Given the description of an element on the screen output the (x, y) to click on. 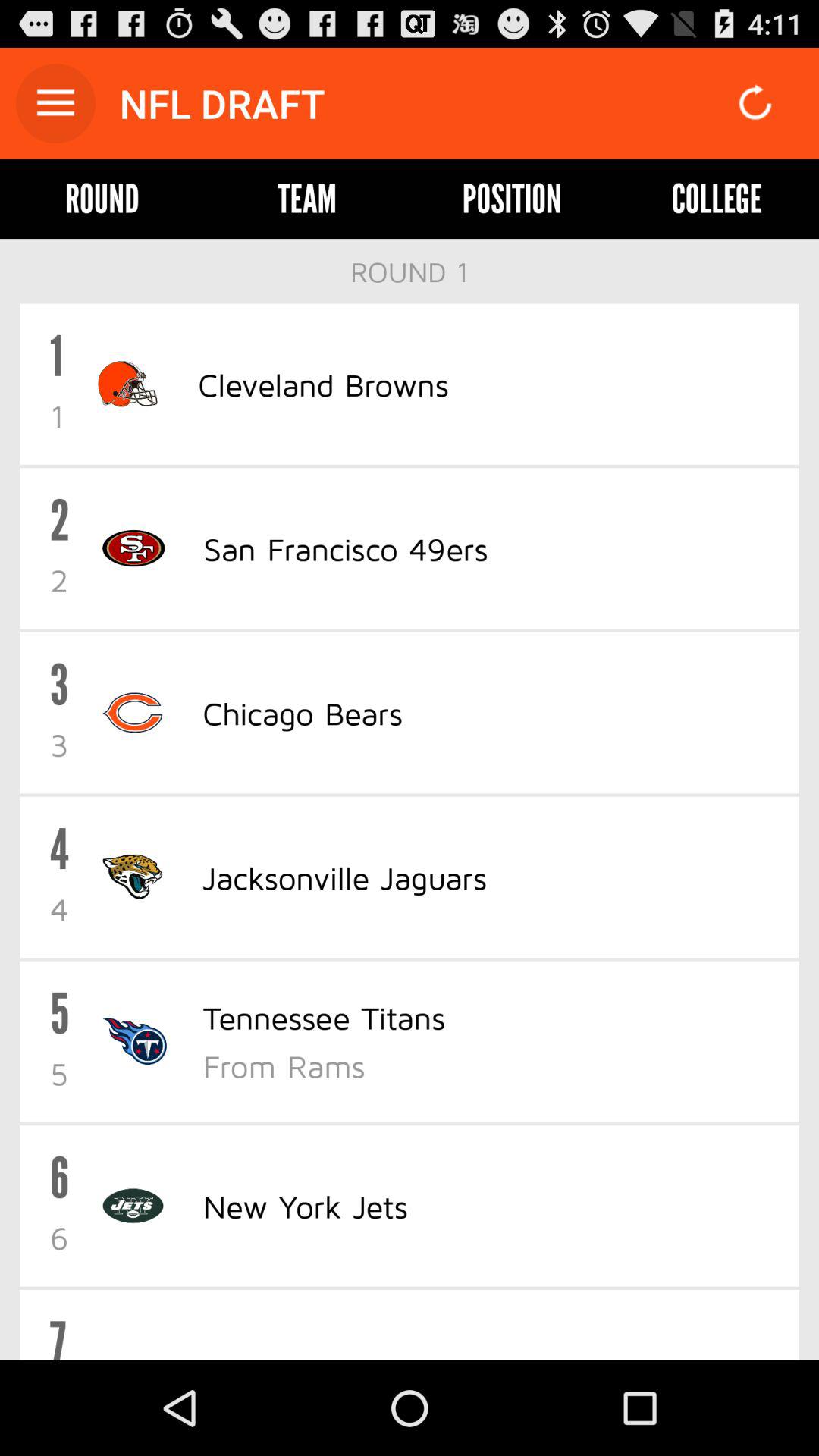
click item above the round 1 icon (306, 198)
